Given the description of an element on the screen output the (x, y) to click on. 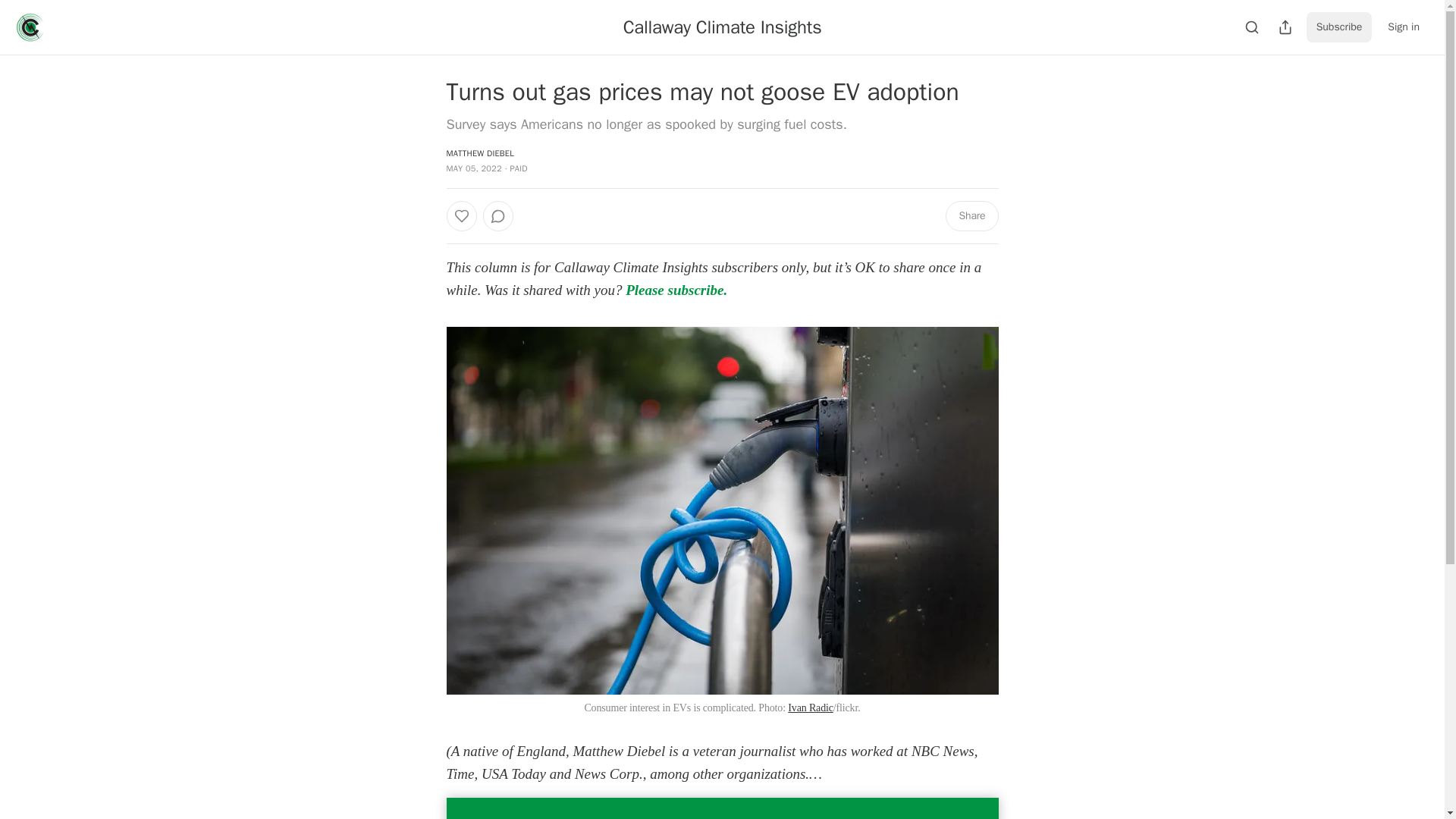
Share (970, 215)
Sign in (1403, 27)
Please subscribe. (676, 289)
Ivan Radic (809, 707)
Callaway Climate Insights (722, 26)
Subscribe (1339, 27)
MATTHEW DIEBEL (479, 153)
